Given the description of an element on the screen output the (x, y) to click on. 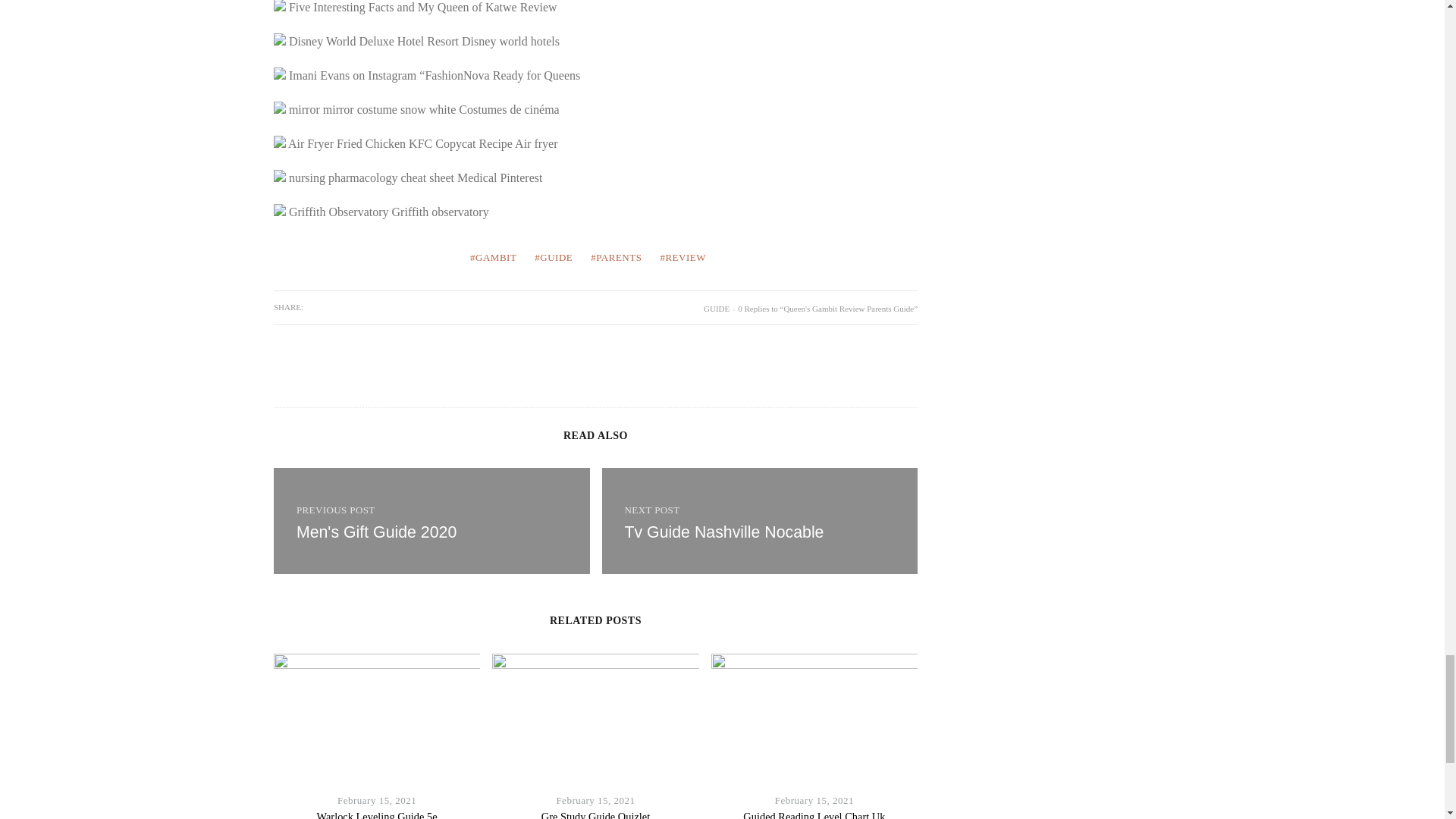
Tv Guide Nashville Nocable (724, 532)
Queen's Gambit Review Parents Guide (760, 520)
Queen's Gambit Review Parents Guide (431, 520)
Men's Gift Guide 2020 (431, 520)
Guided Reading Level Chart Uk (813, 814)
Gre Study Guide Quizlet (595, 814)
View all posts under this category. (716, 307)
Tv Guide Nashville Nocable (760, 520)
Queen's Gambit Review Parents Guide (377, 532)
Queen's Gambit Review Parents Guide (724, 532)
